Given the description of an element on the screen output the (x, y) to click on. 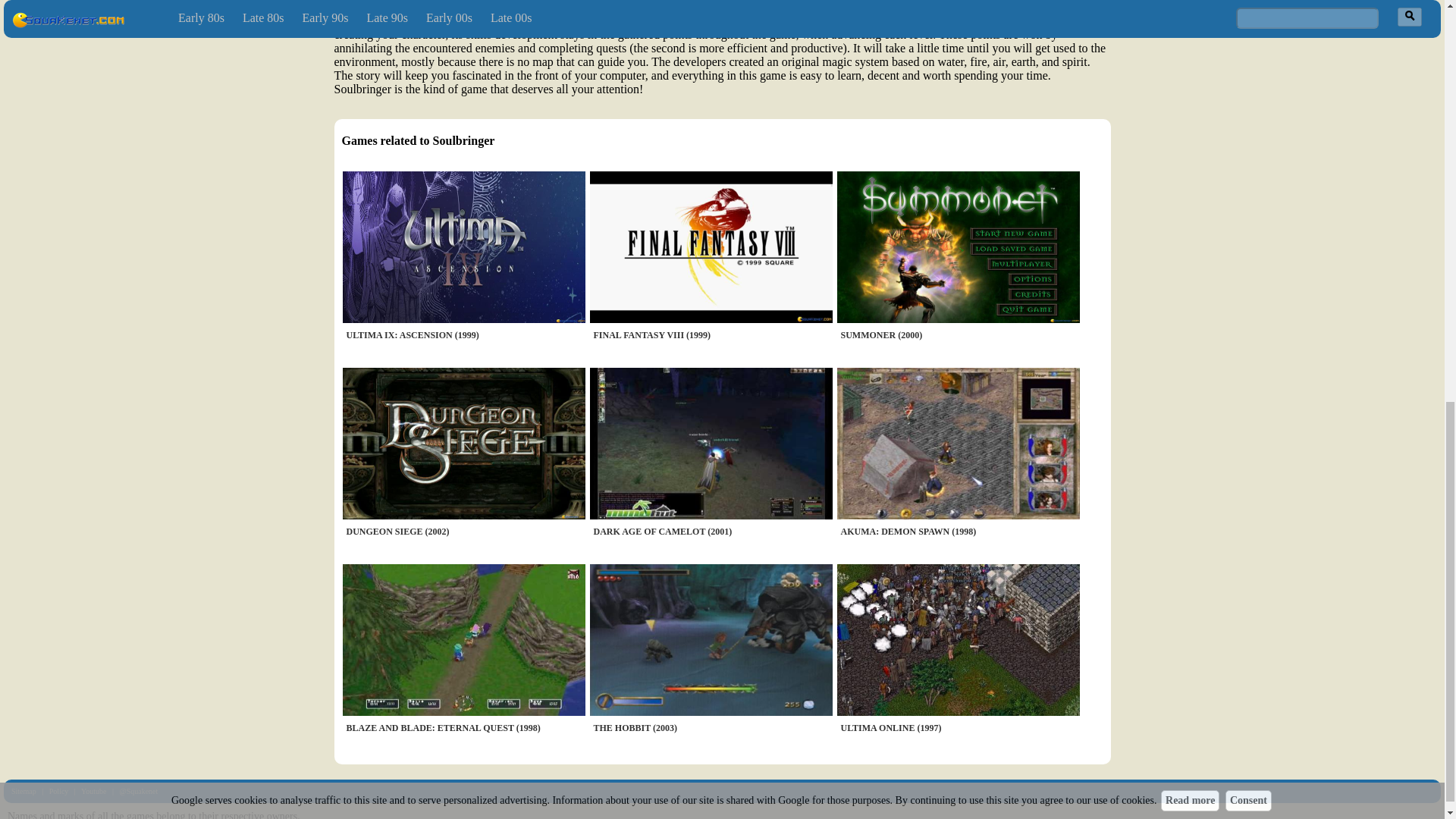
Sitemap (23, 791)
